Given the description of an element on the screen output the (x, y) to click on. 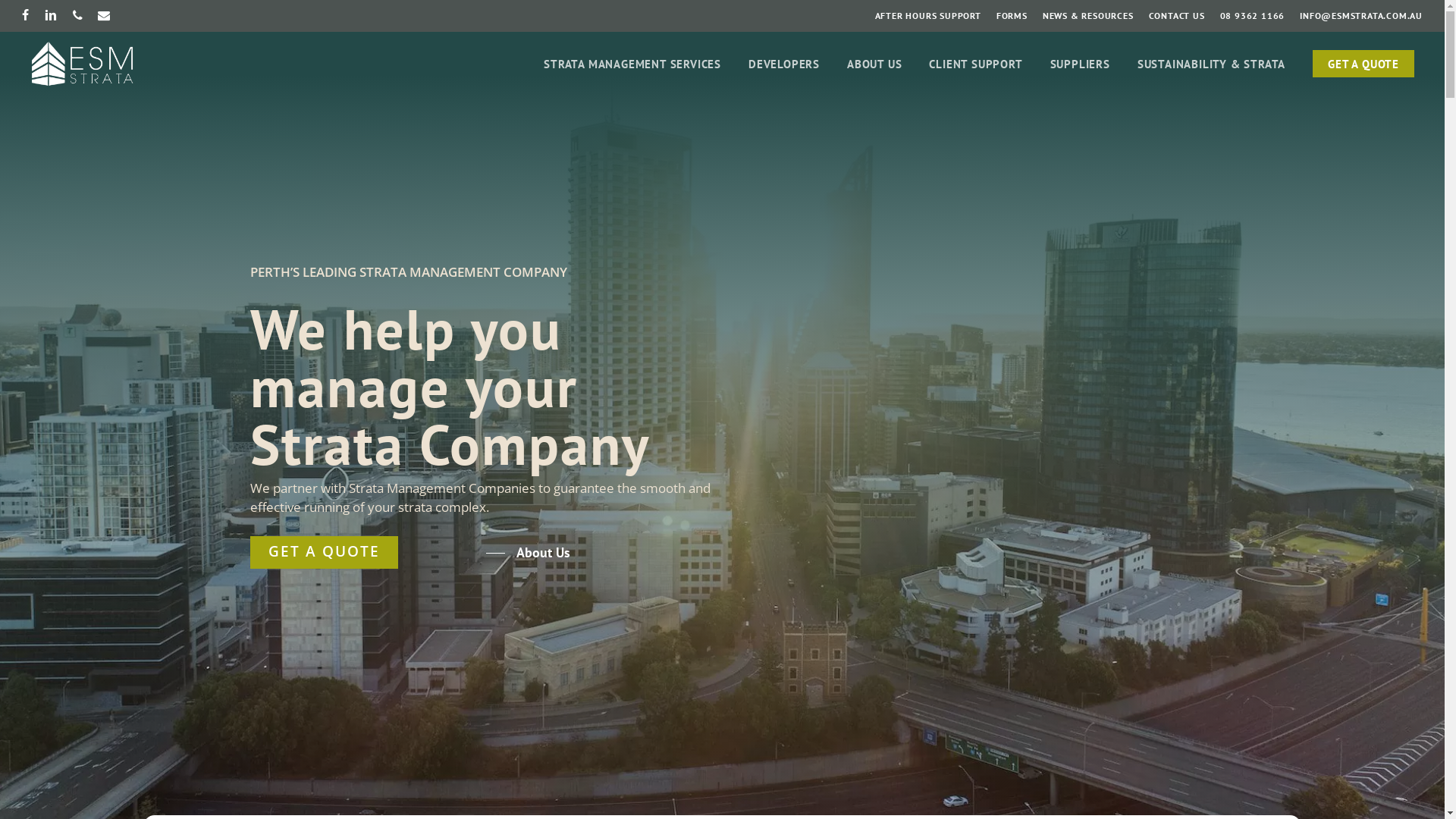
EMAIL Element type: text (103, 15)
GET A QUOTE Element type: text (324, 552)
SUSTAINABILITY & STRATA Element type: text (1211, 63)
08 9362 1166 Element type: text (1252, 15)
STRATA MANAGEMENT SERVICES Element type: text (632, 63)
SUPPLIERS Element type: text (1080, 63)
LINKEDIN Element type: text (50, 15)
FORMS Element type: text (1011, 15)
CLIENT SUPPORT Element type: text (975, 63)
ABOUT US Element type: text (874, 63)
INFO@ESMSTRATA.COM.AU Element type: text (1360, 15)
PHONE Element type: text (77, 15)
CONTACT US Element type: text (1176, 15)
FACEBOOK Element type: text (25, 15)
DEVELOPERS Element type: text (783, 63)
NEWS & RESOURCES Element type: text (1087, 15)
About Us Element type: text (528, 552)
GET A QUOTE Element type: text (1363, 63)
AFTER HOURS SUPPORT Element type: text (928, 15)
